Given the description of an element on the screen output the (x, y) to click on. 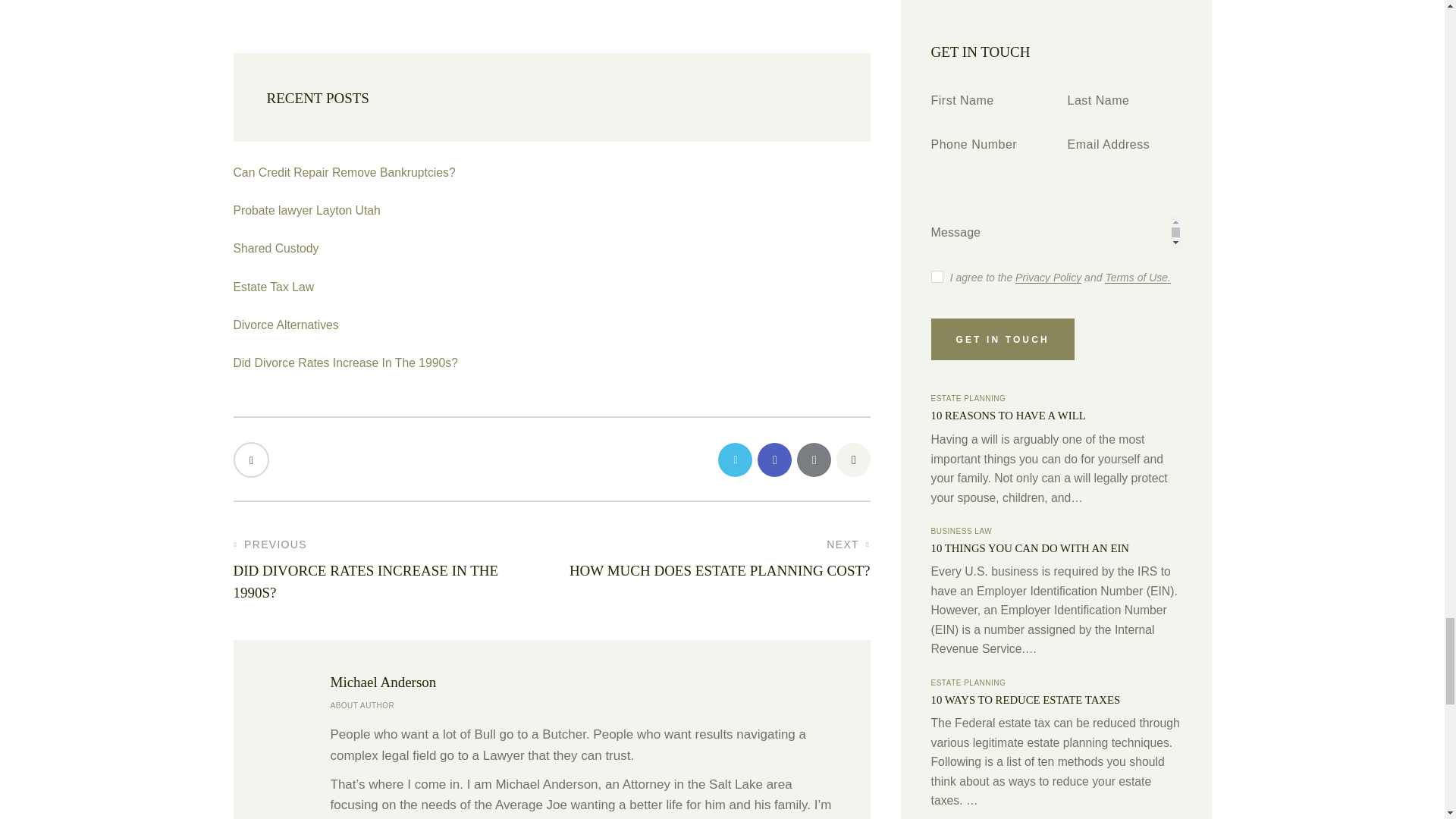
Like (252, 459)
Copy URL to clipboard (852, 459)
